Given the description of an element on the screen output the (x, y) to click on. 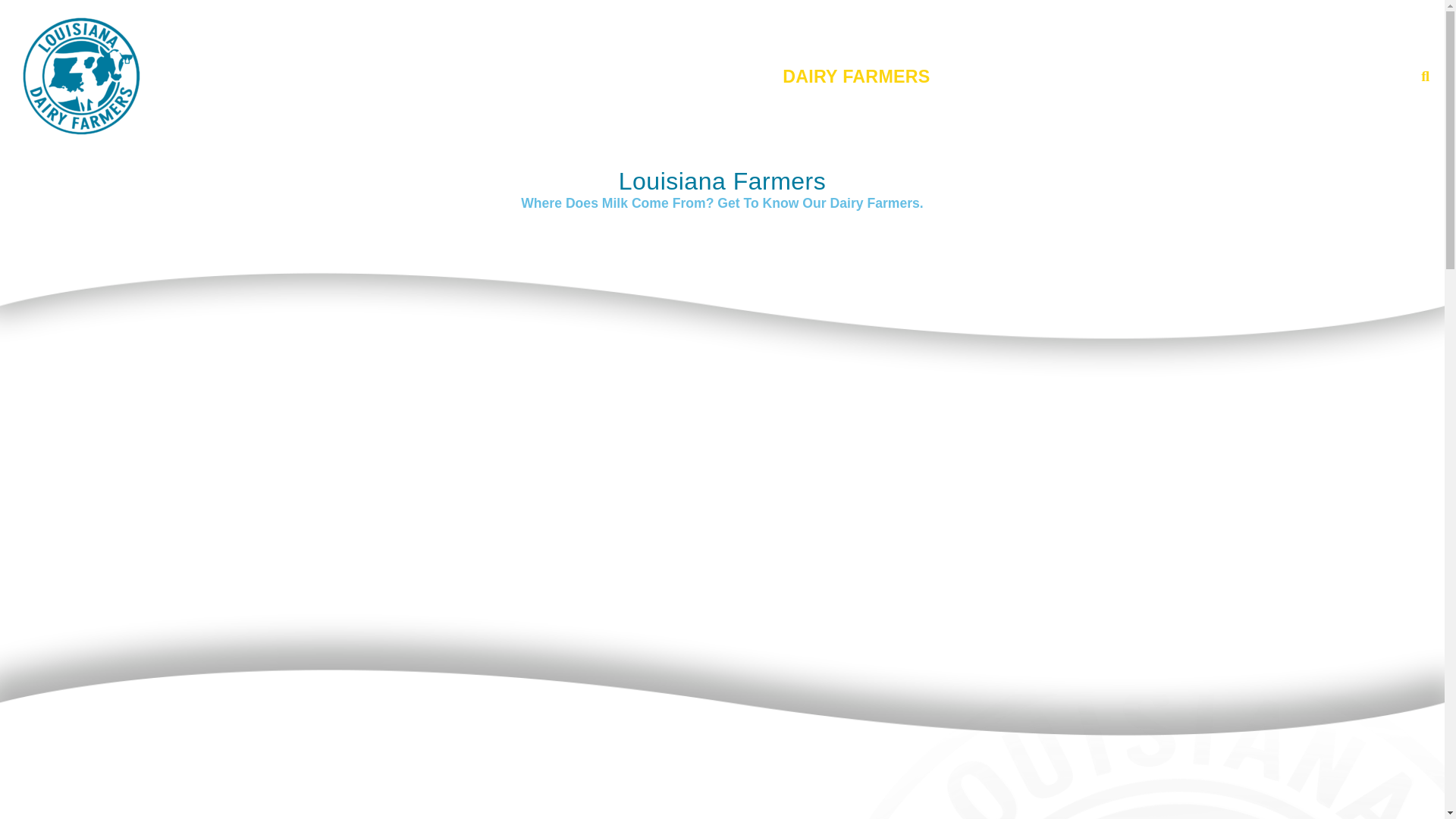
LUCY ANNA (1336, 76)
KIDS CORNER (1027, 76)
DAIRY FARMERS (856, 76)
PROMOTIONS (1187, 76)
WHO WE ARE (459, 76)
